Given the description of an element on the screen output the (x, y) to click on. 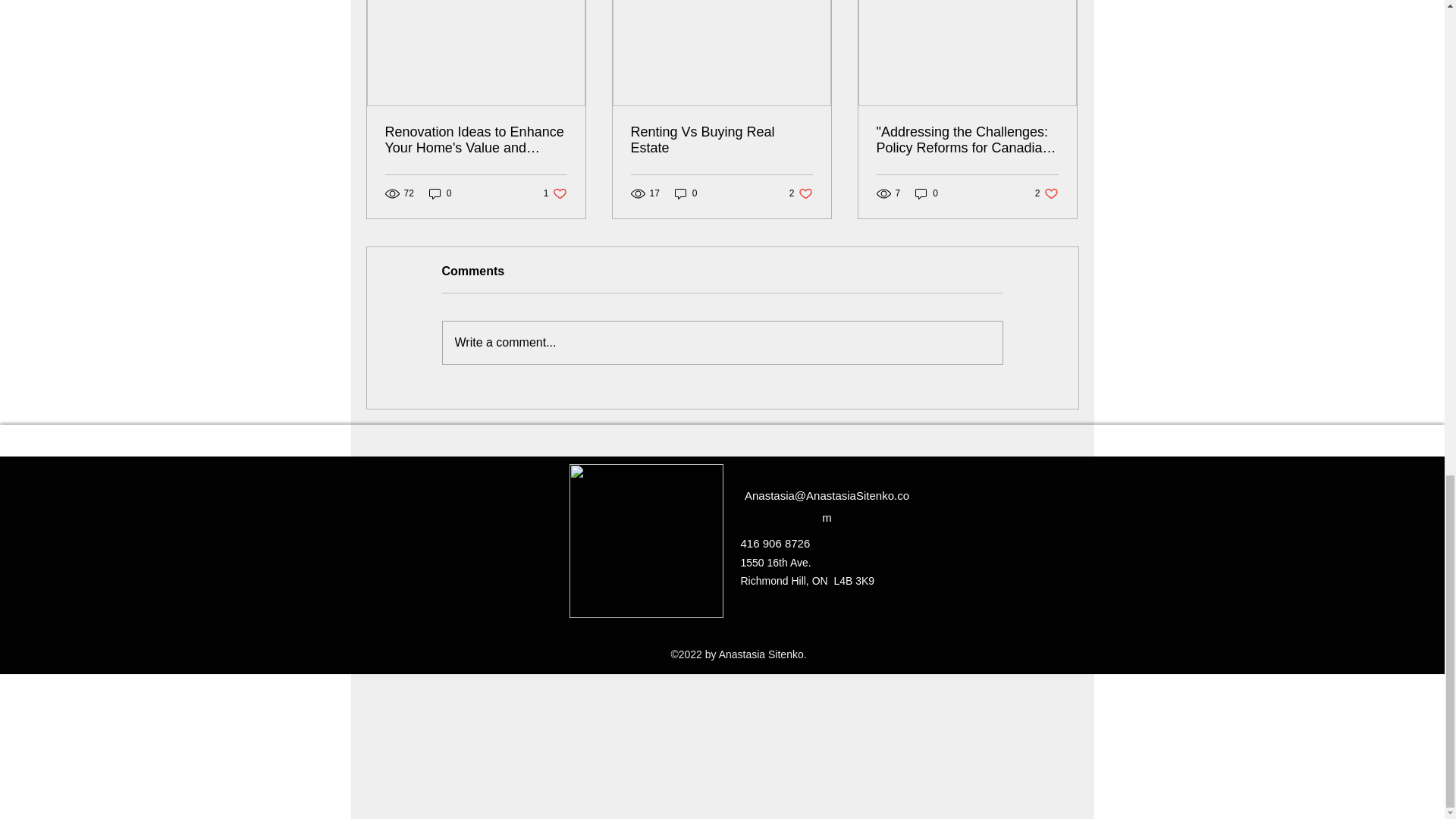
0 (440, 193)
Renovation Ideas to Enhance Your Home's Value and Comfort (476, 140)
Renting Vs Buying Real Estate (721, 140)
0 (685, 193)
0 (800, 193)
2 copy 2.png (555, 193)
Write a comment... (926, 193)
